Given the description of an element on the screen output the (x, y) to click on. 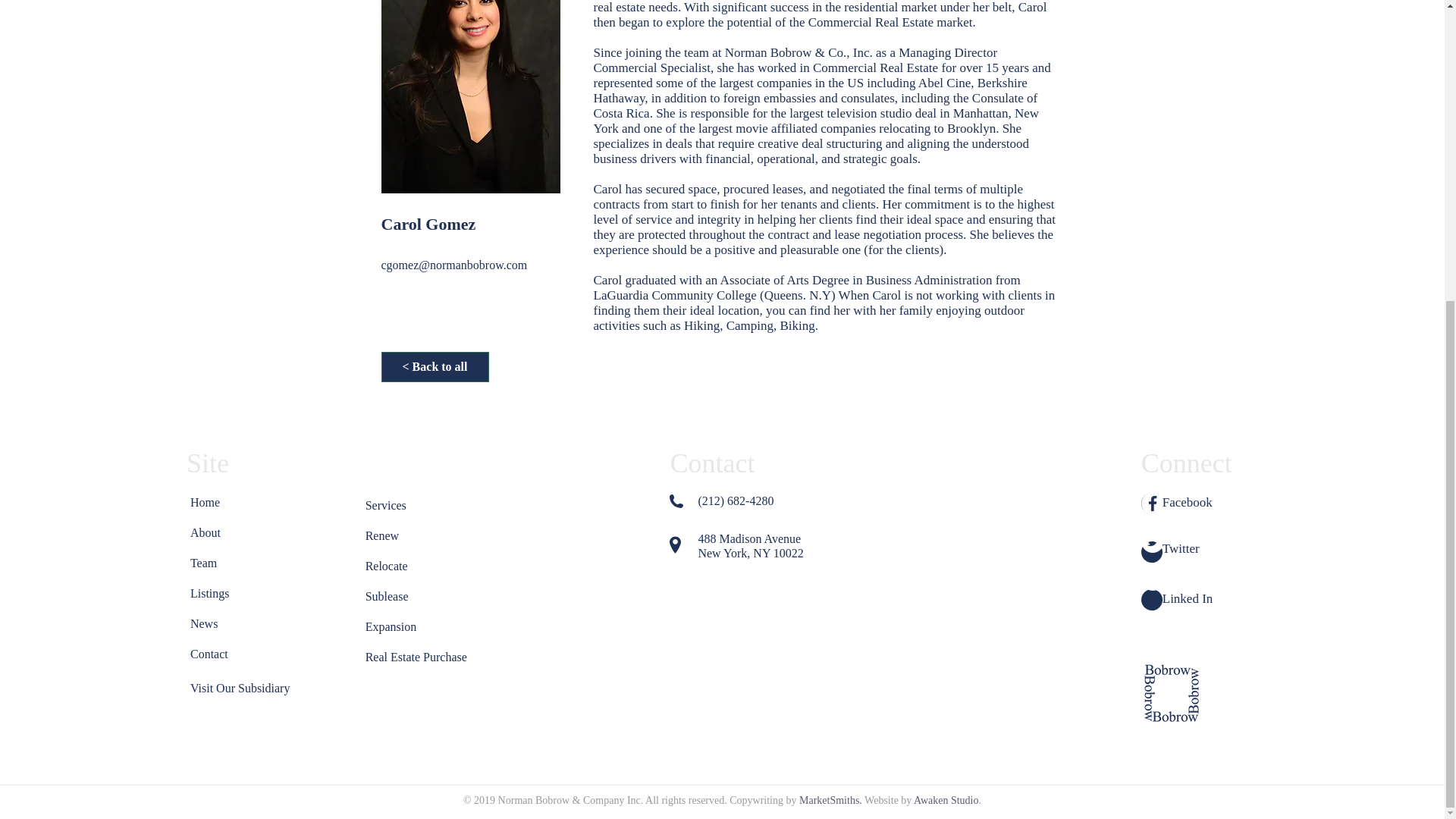
Renew (400, 535)
Team (224, 562)
News (224, 624)
Listings (224, 593)
Twitter (1180, 548)
Real Estate Purchase (418, 657)
Contact (224, 654)
Visit Our Subsidiary (239, 688)
Awaken Studio (946, 799)
About (224, 532)
Relocate (400, 566)
Expansion (400, 626)
Services (400, 505)
MarketSmiths (829, 799)
Facebook (1186, 502)
